Given the description of an element on the screen output the (x, y) to click on. 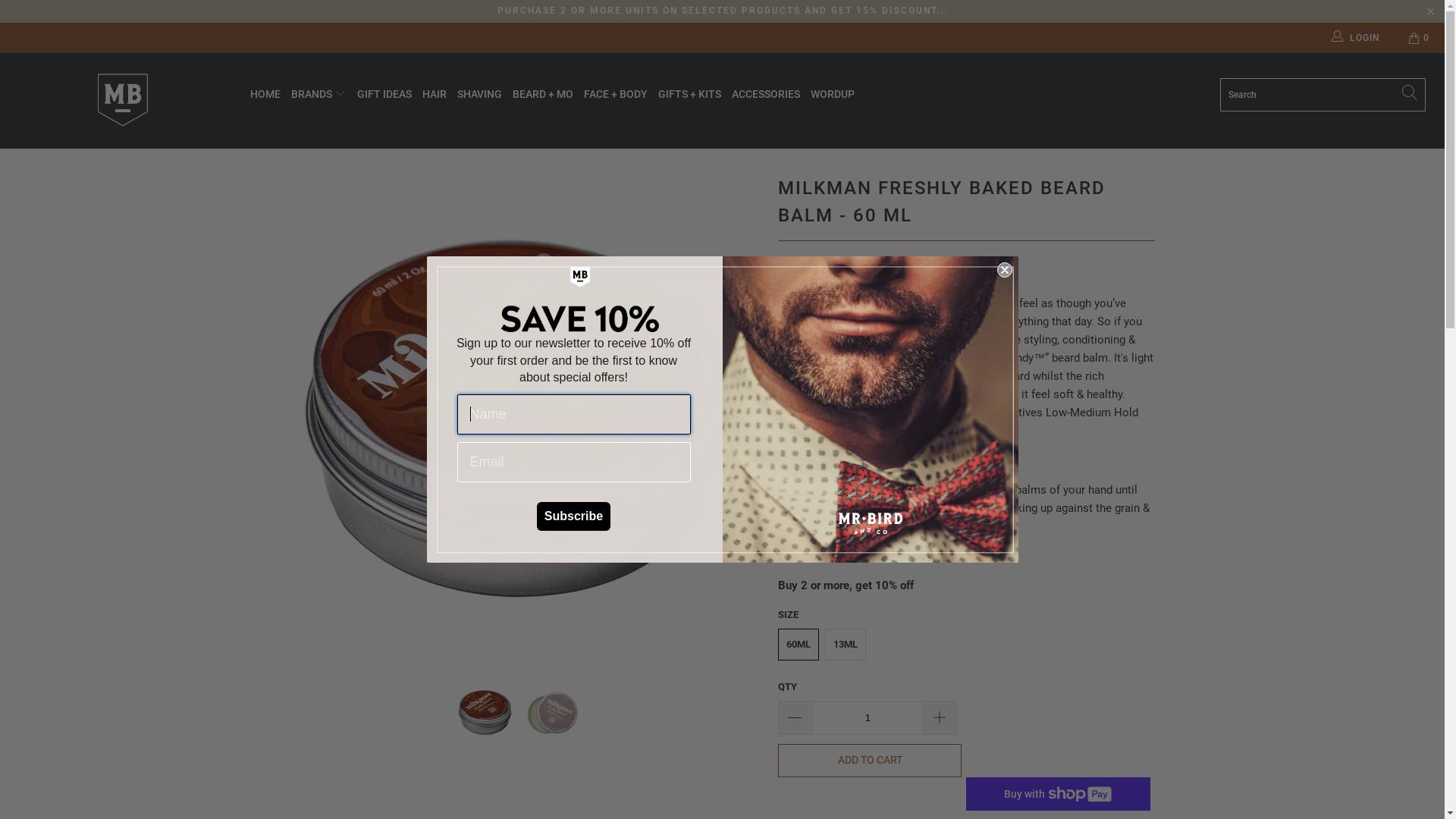
ACCESSORIES Element type: text (765, 93)
0 Element type: text (1419, 37)
HAIR Element type: text (434, 93)
ADD TO CART Element type: text (869, 760)
HOME Element type: text (265, 93)
GIFTS + KITS Element type: text (689, 93)
Subscribe Element type: text (573, 516)
FACE + BODY Element type: text (615, 93)
WORDUP Element type: text (832, 93)
BRANDS Element type: text (318, 93)
Mr. Bird and co Element type: hover (123, 100)
LOGIN Element type: text (1356, 37)
SHAVING Element type: text (479, 93)
More payment options Element type: text (1058, 793)
BEARD + MO Element type: text (542, 93)
GIFT IDEAS Element type: text (384, 93)
Submit Element type: text (34, 16)
